Given the description of an element on the screen output the (x, y) to click on. 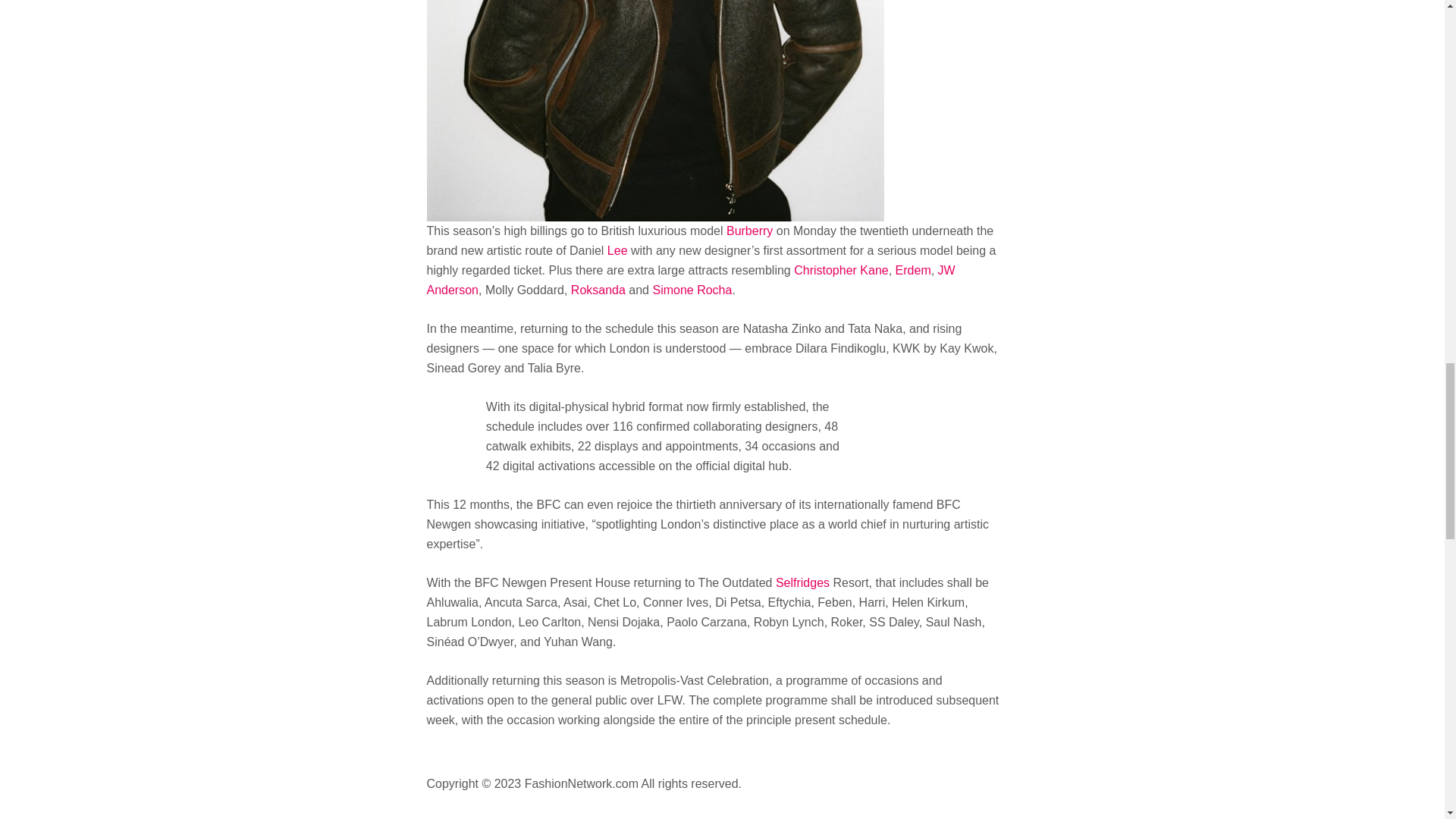
Burberry (749, 230)
Roksanda (598, 289)
Selfridges (802, 582)
Erdem (913, 269)
Simone Rocha (692, 289)
Lee (617, 250)
Christopher Kane (840, 269)
JW Anderson (690, 279)
